Given the description of an element on the screen output the (x, y) to click on. 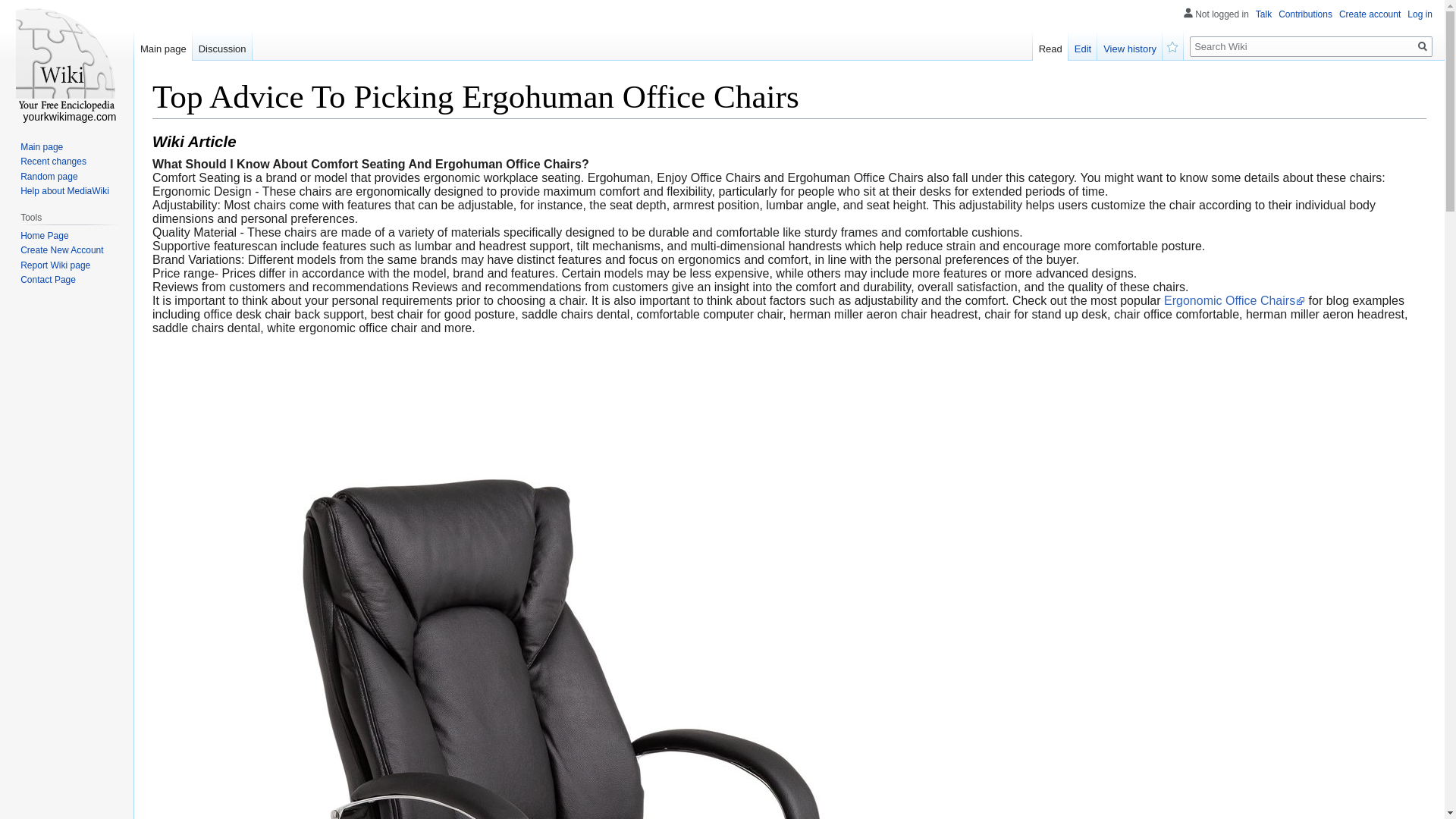
Recent changes (52, 161)
View history (1129, 45)
Ergonomic Office Chairs (1233, 300)
Visit the main page (66, 60)
Random page (48, 176)
Log in (1419, 14)
Search pages for this text (1422, 46)
Main page (41, 146)
Search (1422, 46)
Edit (1082, 45)
Home Page (44, 235)
Contributions (1305, 14)
Report Wiki page (55, 265)
Create account (1369, 14)
